Given the description of an element on the screen output the (x, y) to click on. 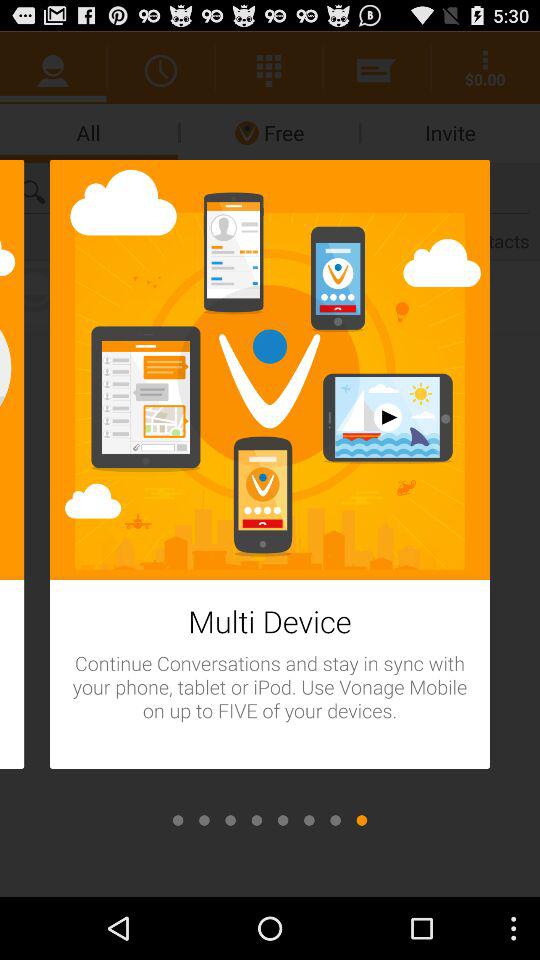
displays the first image in a series (178, 820)
